Given the description of an element on the screen output the (x, y) to click on. 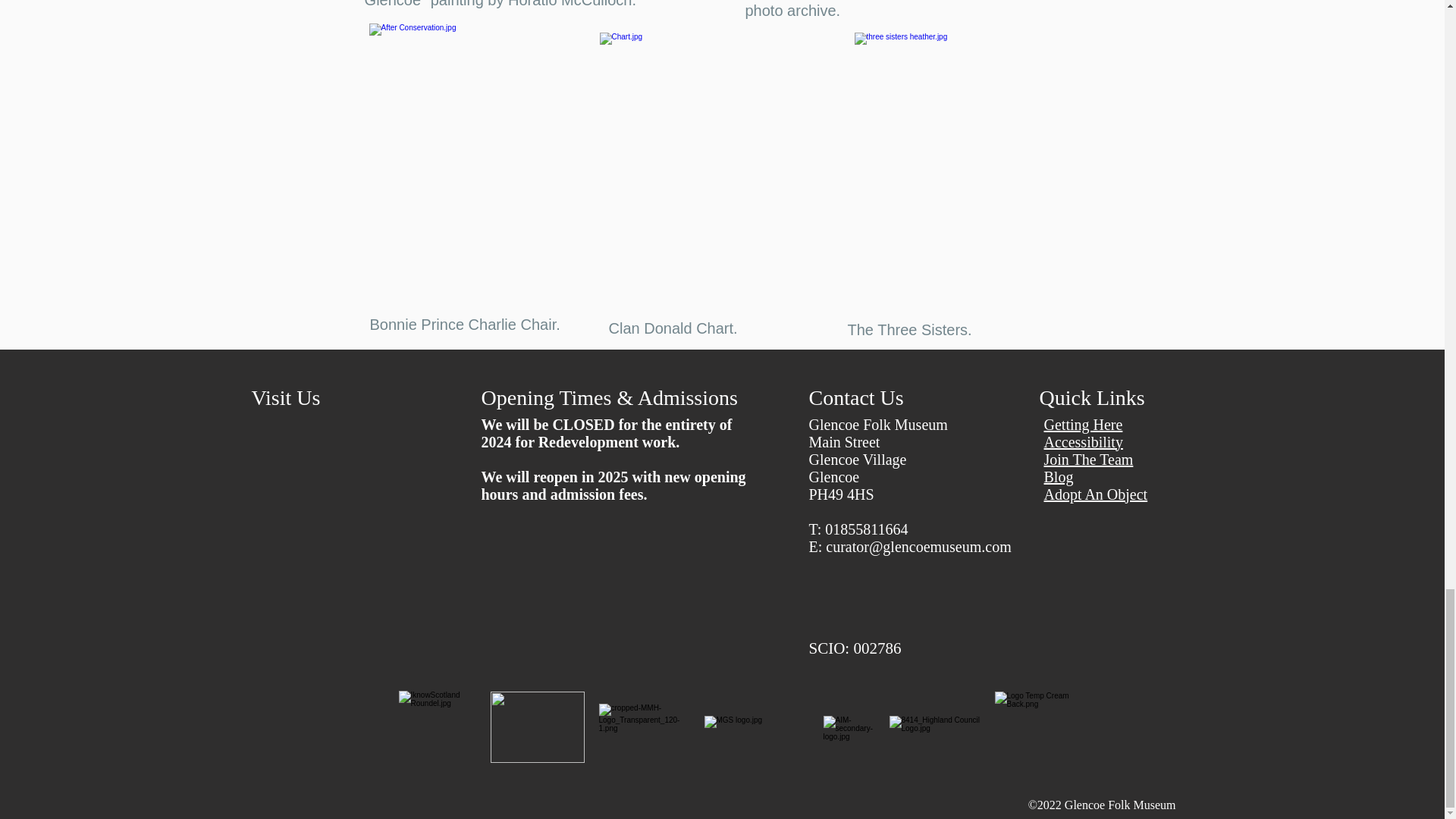
Accessibility (1082, 442)
Adopt An Object (1095, 494)
Join The Team (1087, 459)
Blog (1058, 476)
Getting Here (1082, 424)
